Given the description of an element on the screen output the (x, y) to click on. 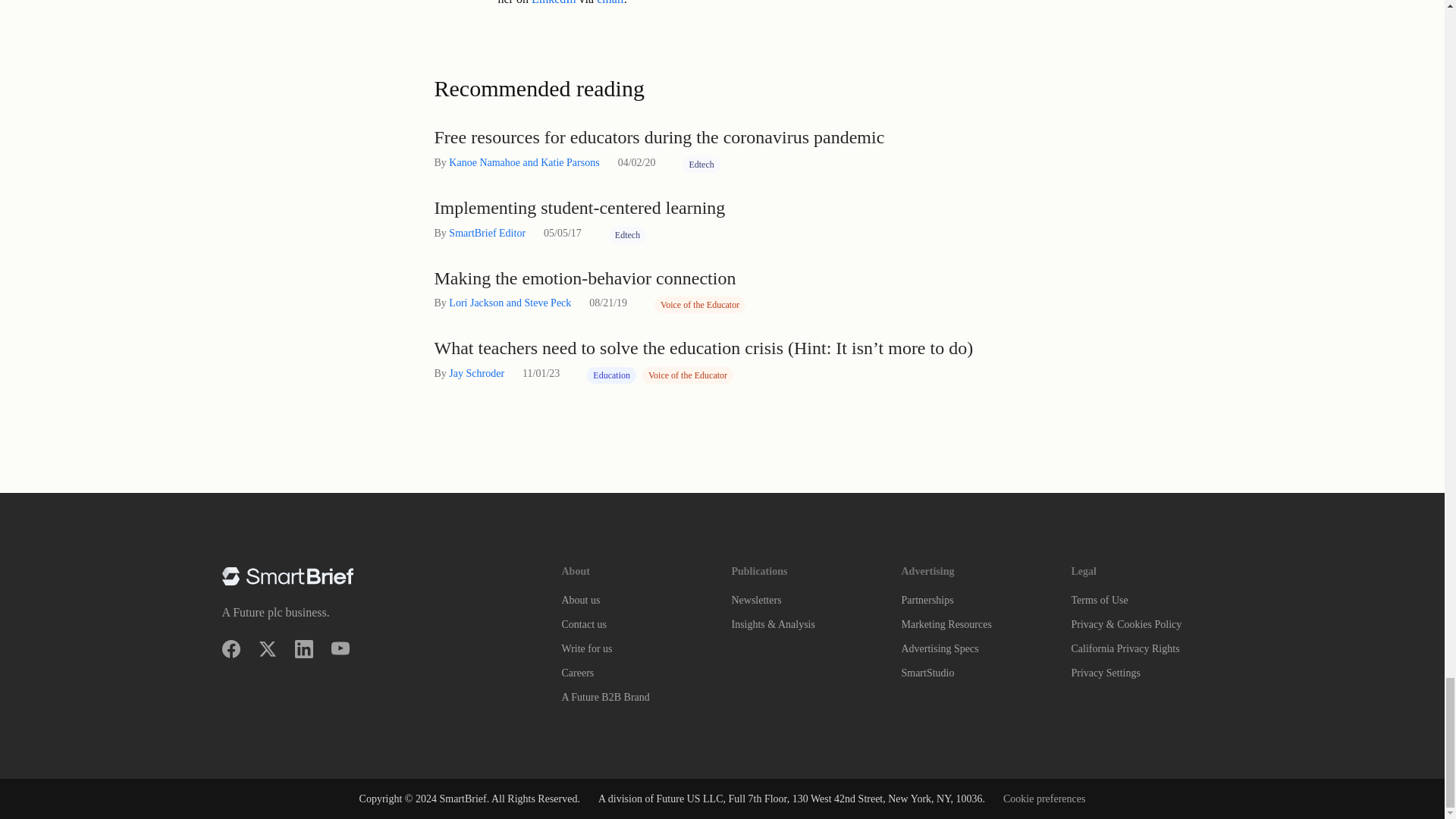
Facebook (230, 648)
LinkedIn (303, 648)
YouTube (339, 648)
